Given the description of an element on the screen output the (x, y) to click on. 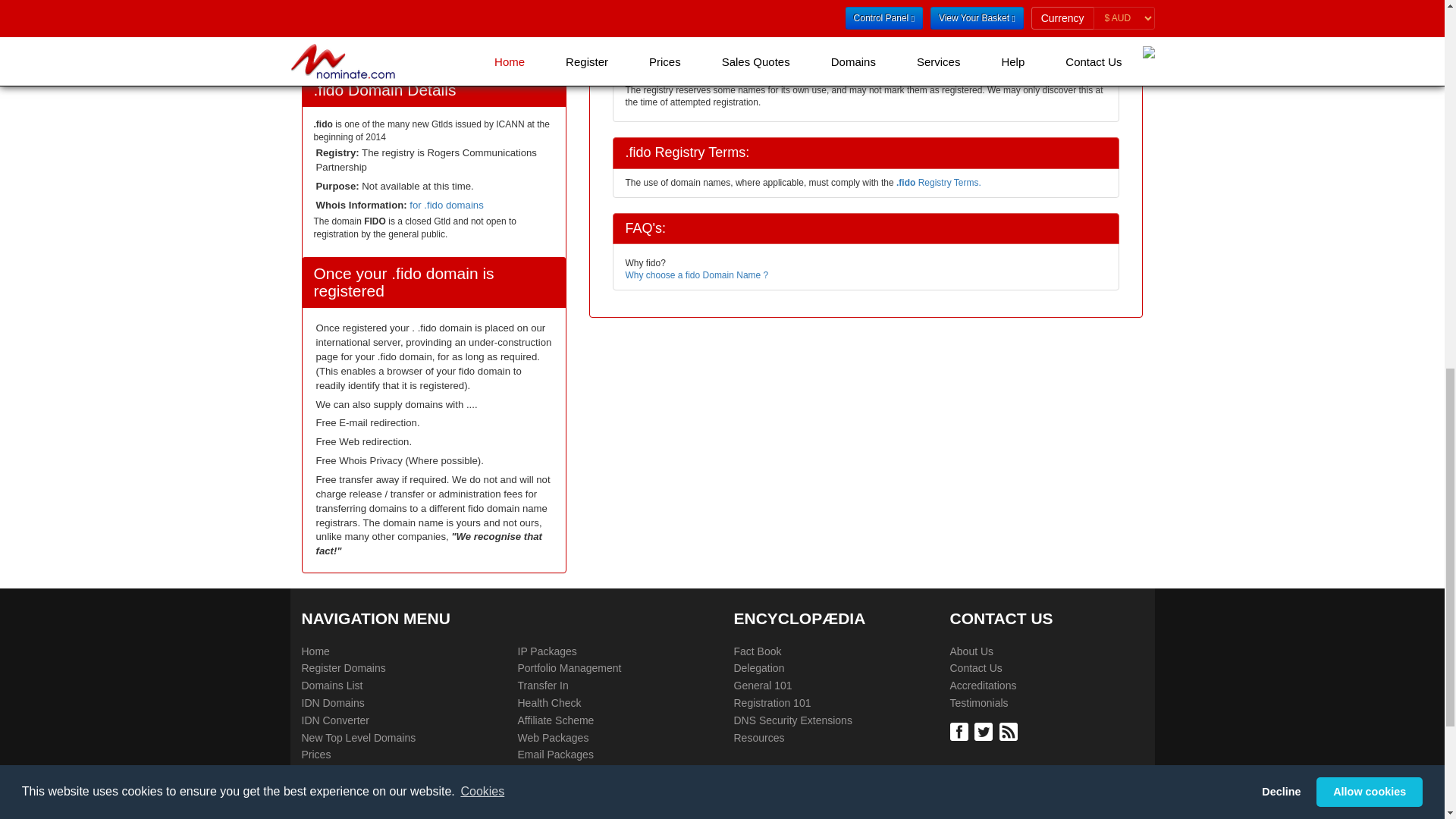
Our Nominate Services (321, 789)
Domain Recovery (343, 807)
Domain Quote (335, 772)
Everyday Domains Prices (316, 754)
Register Your Domains (343, 668)
fido domains, registry terms (938, 182)
International Domain Names (315, 652)
fido domains, why choose one (696, 275)
IDN Converter (335, 720)
Domains List (331, 685)
